Given the description of an element on the screen output the (x, y) to click on. 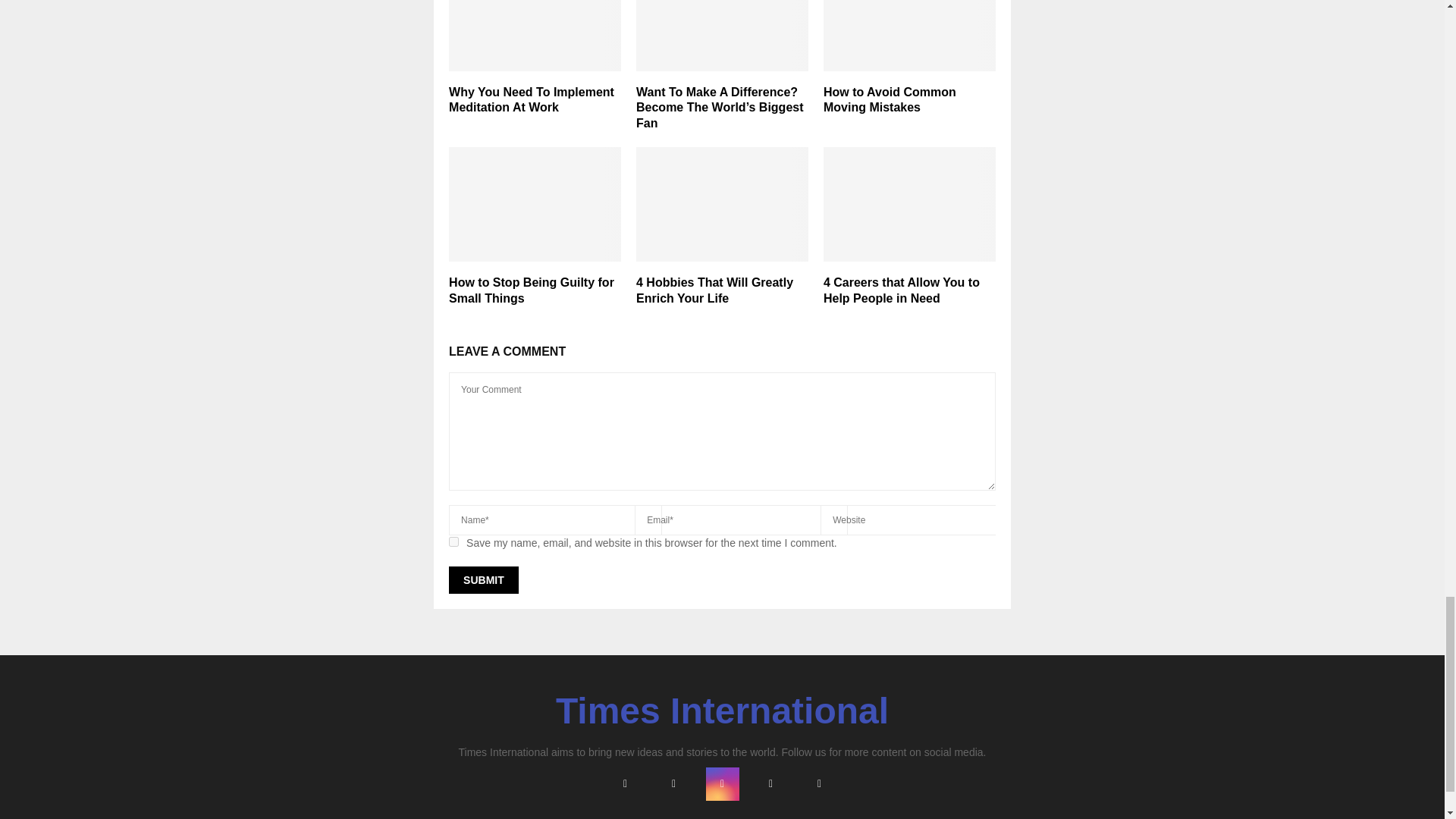
yes (453, 542)
Submit (483, 579)
